Given the description of an element on the screen output the (x, y) to click on. 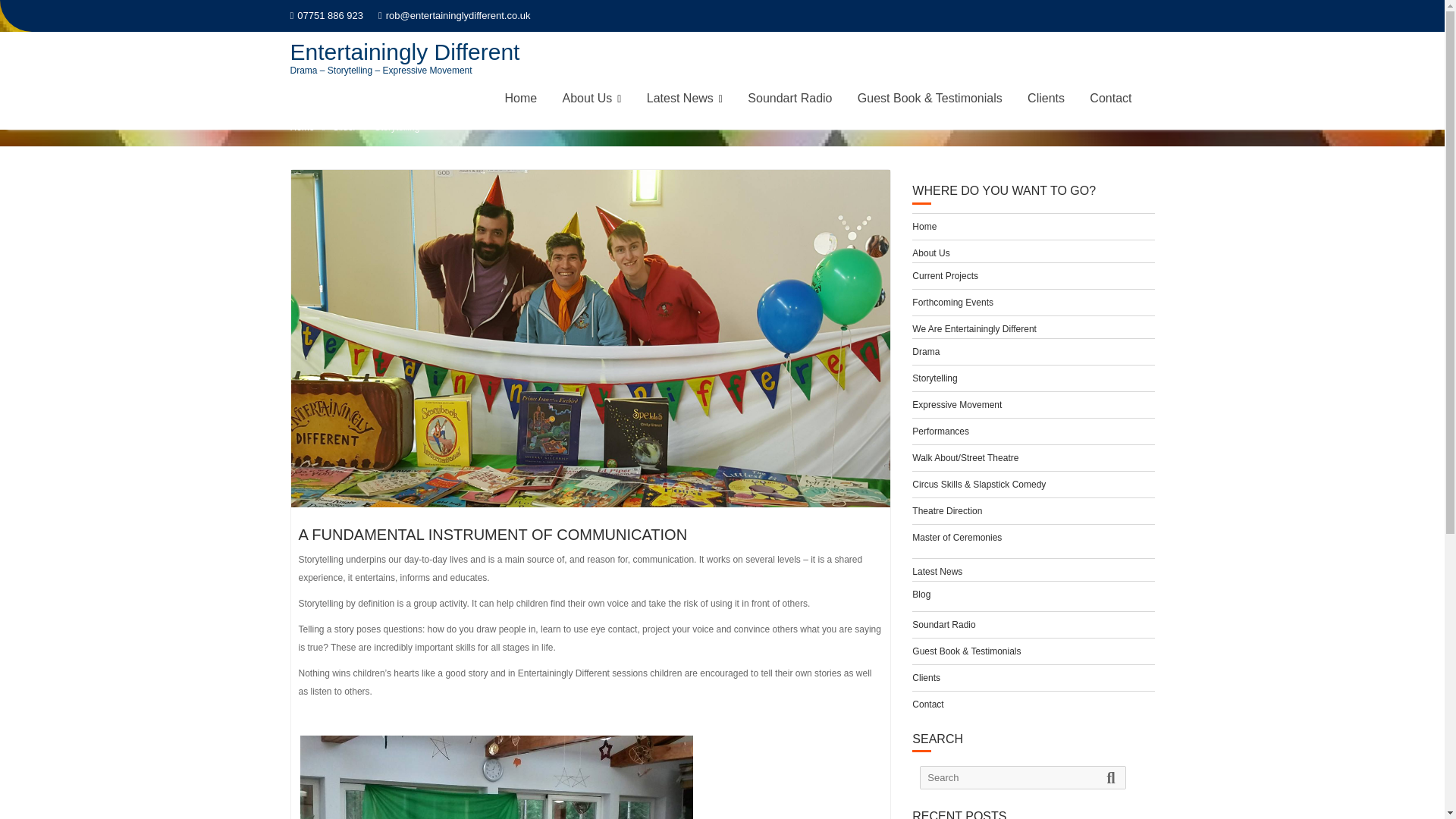
Slider (344, 140)
Entertainingly Different (404, 51)
Entertainingly Different (404, 51)
Current Projects (945, 276)
Home (301, 140)
Clients (1045, 98)
Home (924, 226)
About Us (930, 253)
Latest News (683, 98)
Contact (1110, 98)
